Given the description of an element on the screen output the (x, y) to click on. 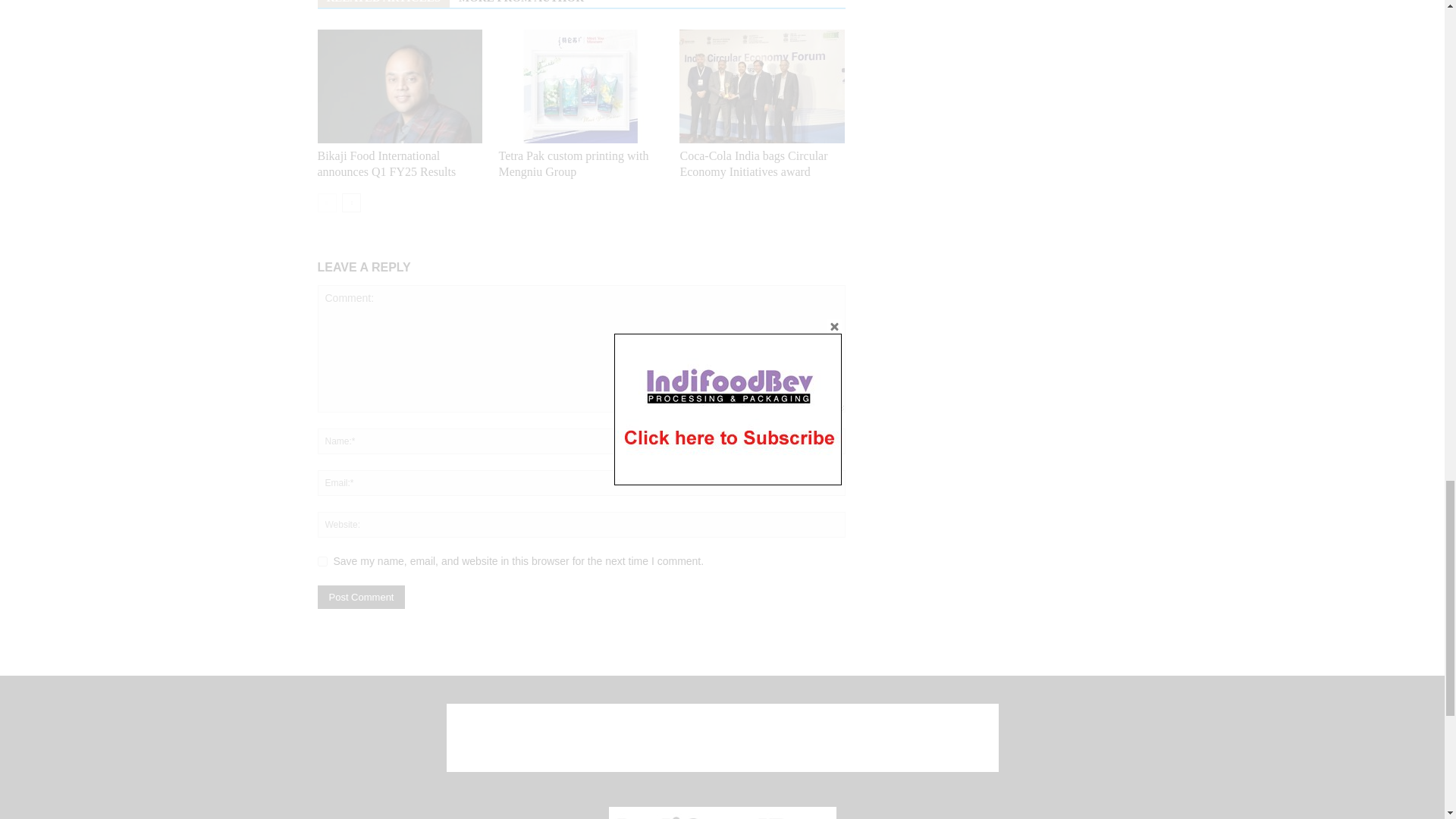
Post Comment (360, 597)
yes (321, 561)
